Given the description of an element on the screen output the (x, y) to click on. 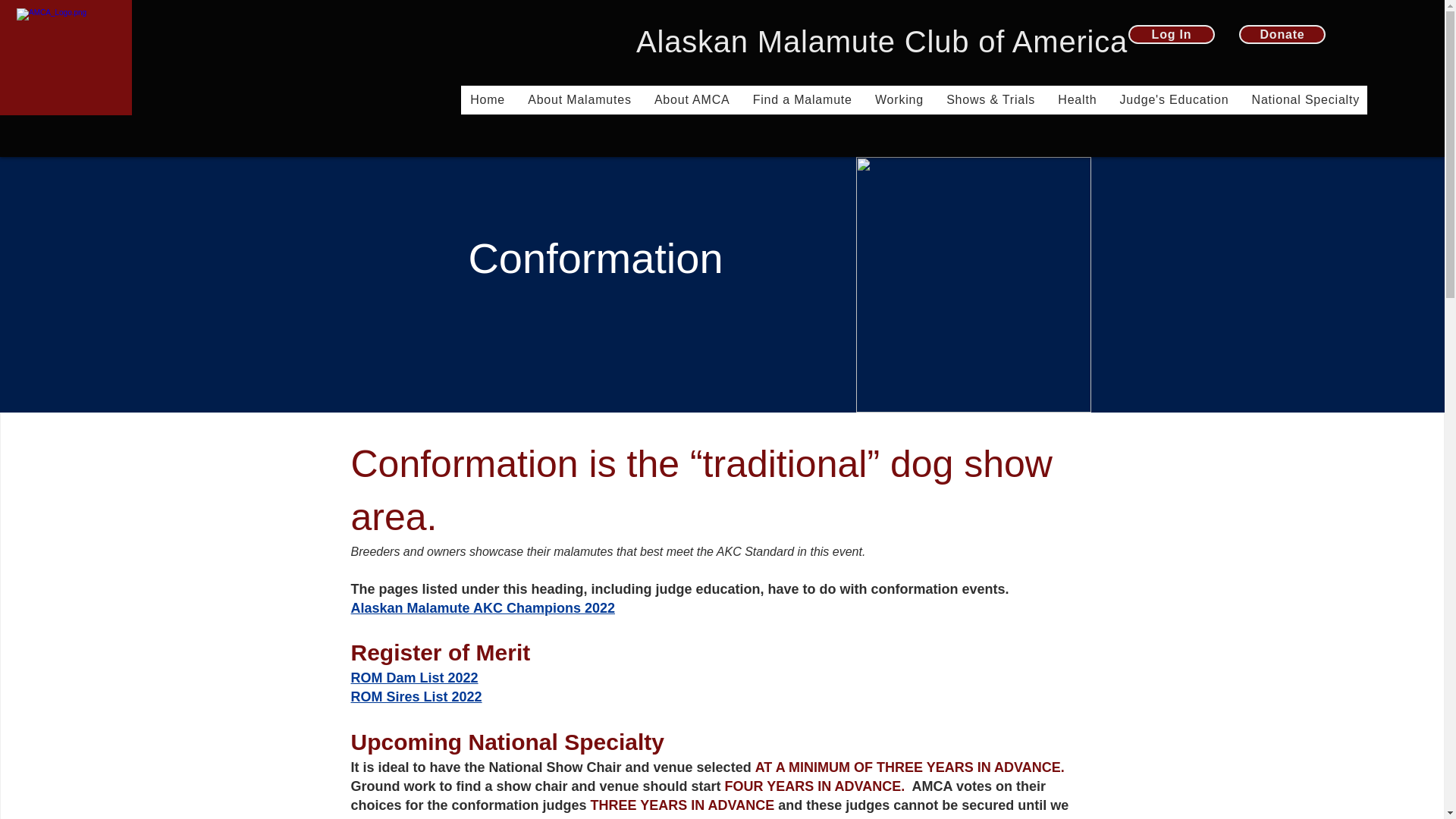
Donate (1281, 34)
Health (1075, 99)
Find a Malamute (800, 99)
Alaskan Malamute Club of America (881, 41)
About AMCA (691, 99)
Log In (1171, 34)
About Malamutes (578, 99)
Home (486, 99)
Working (898, 99)
nat.BOB'22.jpg (973, 284)
